Given the description of an element on the screen output the (x, y) to click on. 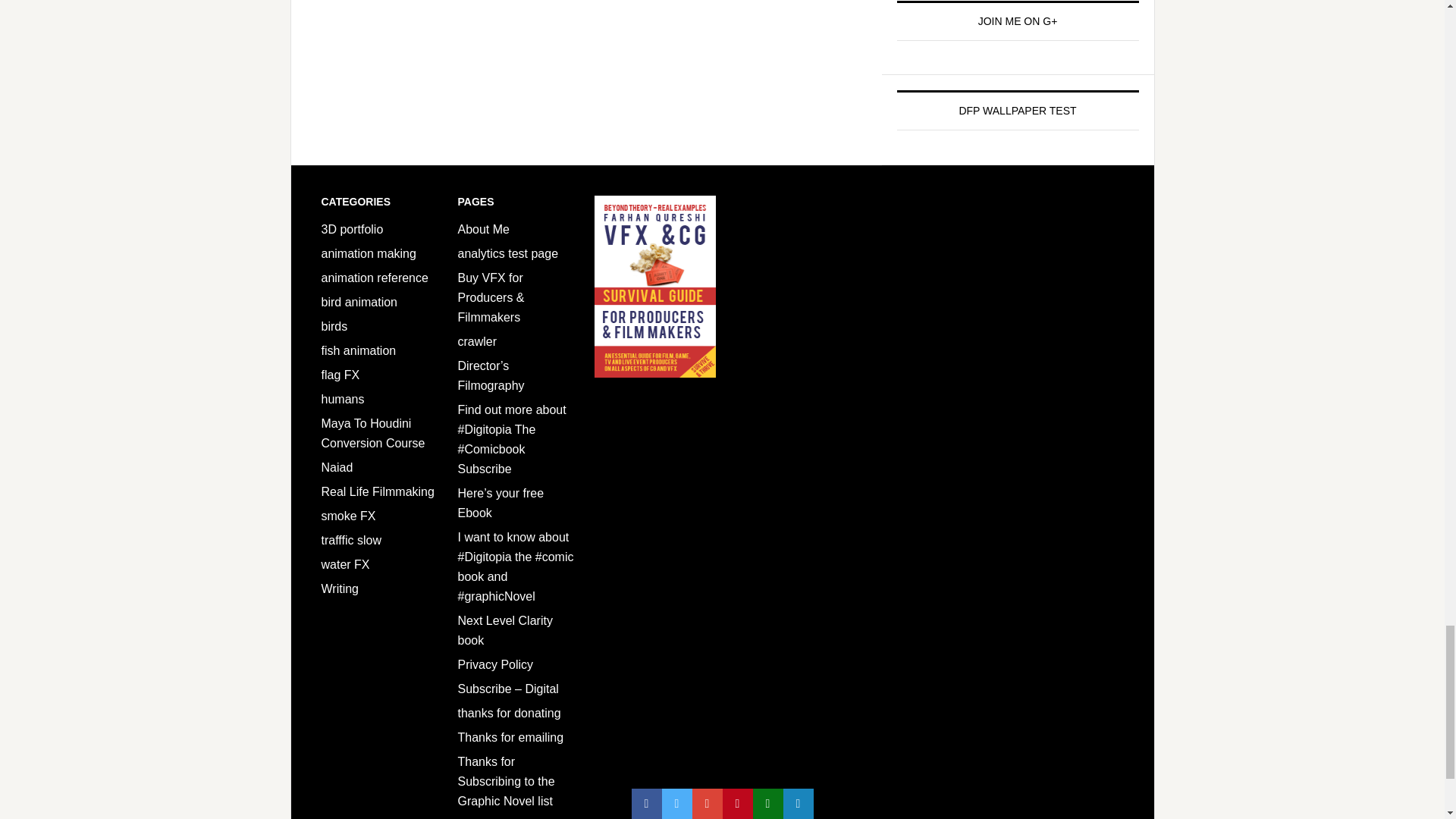
Film making in the real world (377, 491)
Real practical advice on how to make your own animated films (368, 253)
Home of the original Maya to Houdini Conversion Course (373, 432)
Real life writing articles (340, 588)
